Given the description of an element on the screen output the (x, y) to click on. 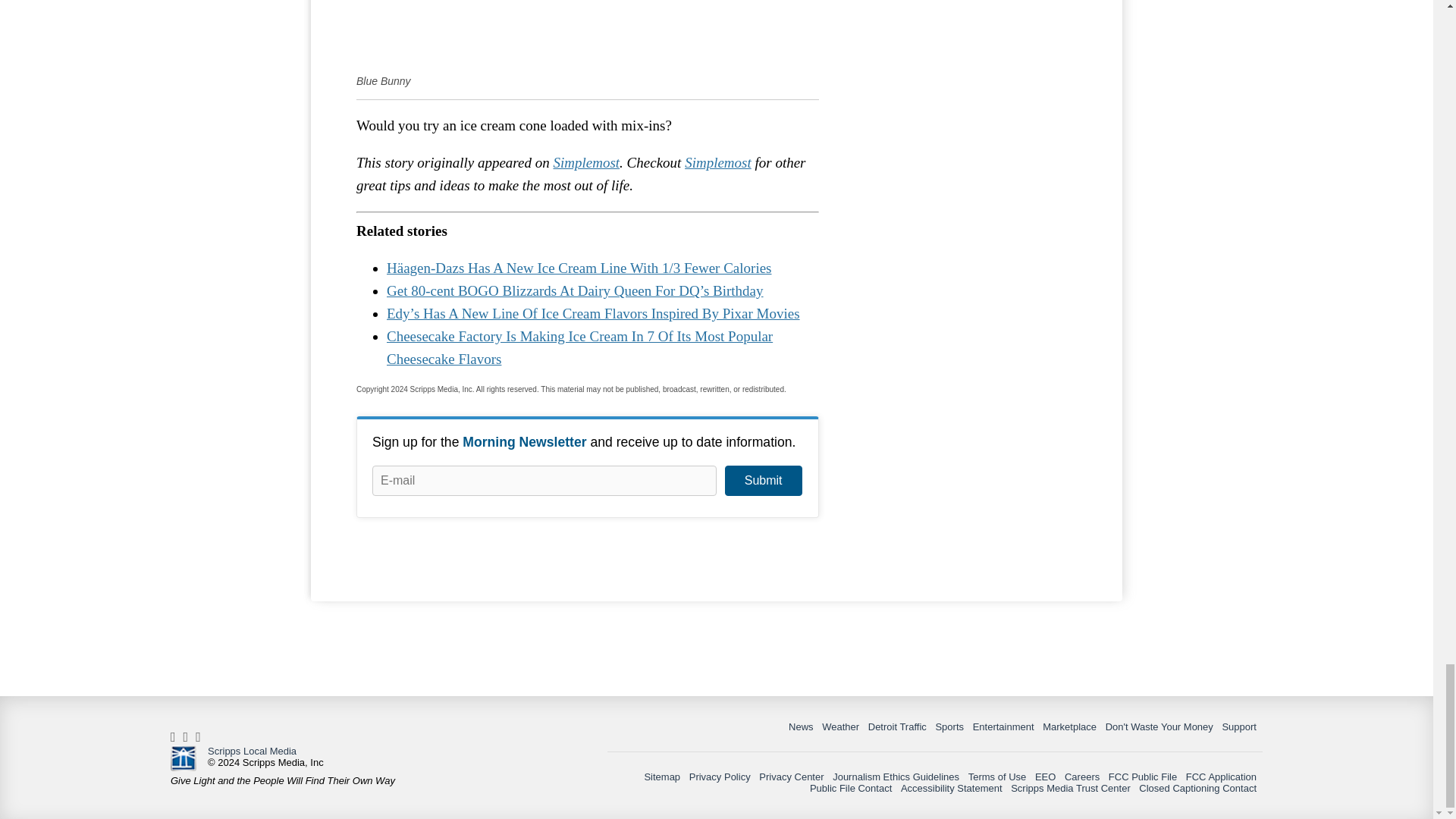
Submit (763, 481)
